Given the description of an element on the screen output the (x, y) to click on. 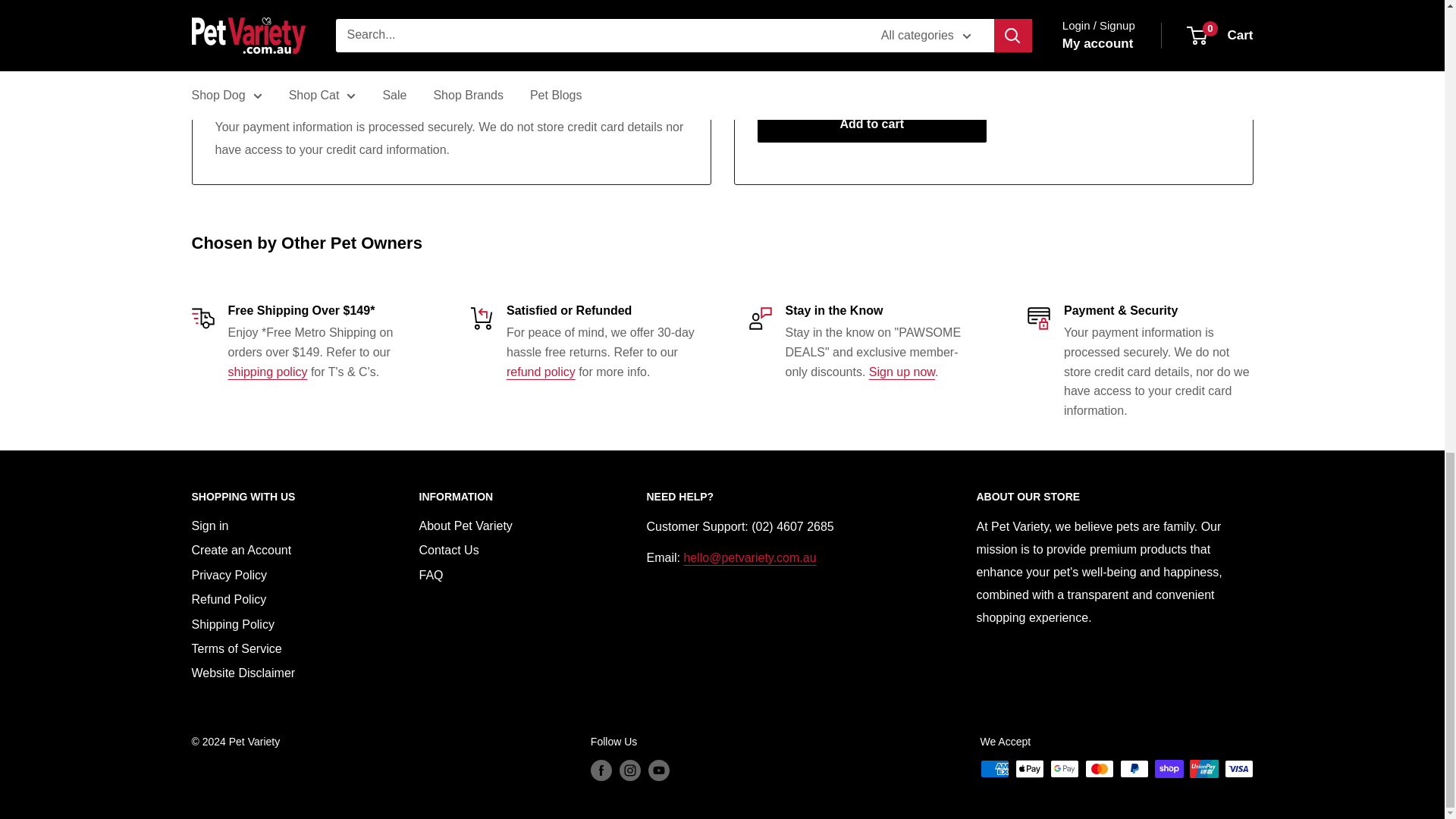
Get in Touch (748, 557)
Refund Policy (540, 371)
Shipping Policy (267, 371)
